Given the description of an element on the screen output the (x, y) to click on. 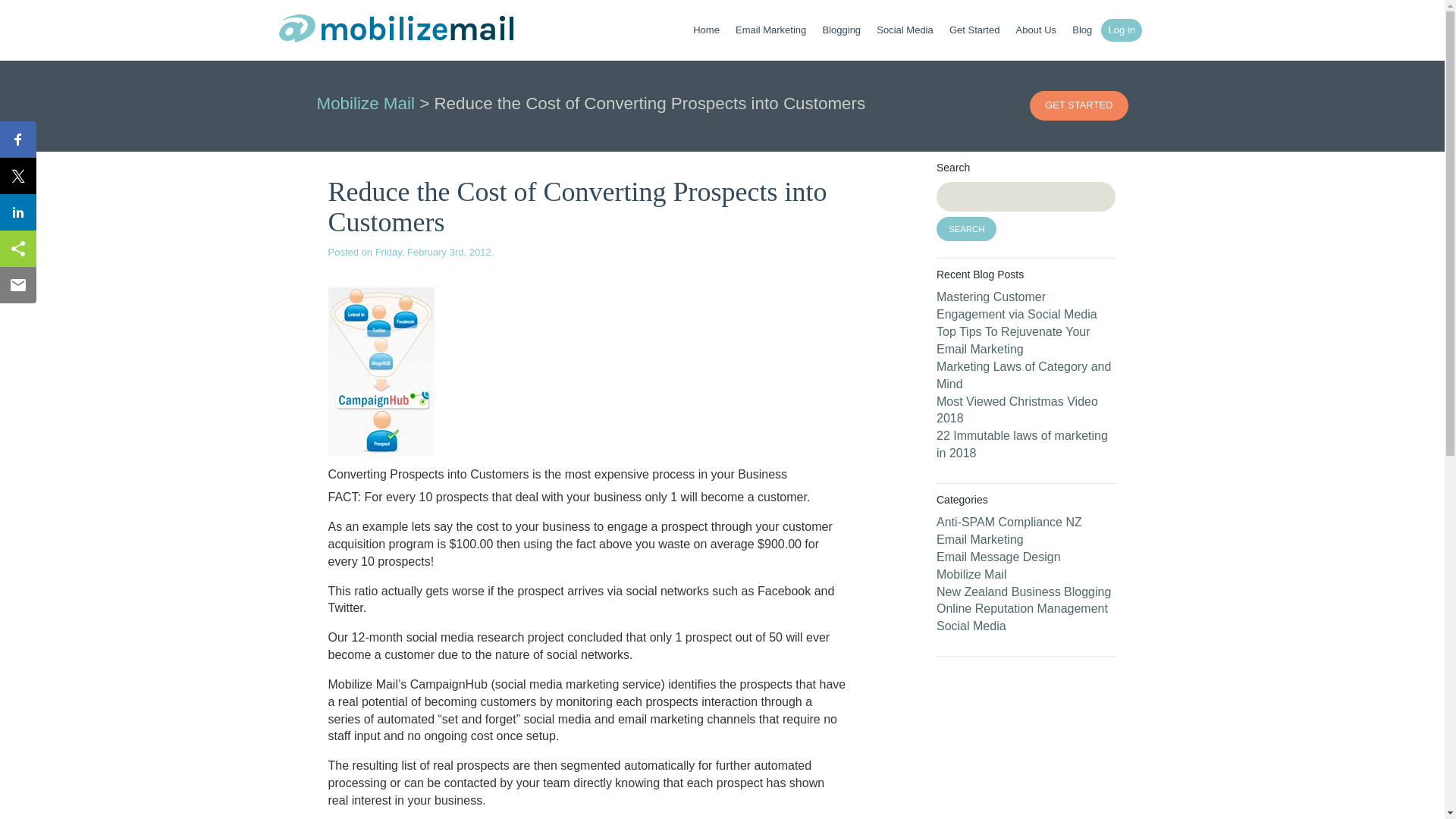
MobilizeMail (396, 32)
Get Started (974, 29)
Mobilize Mail (365, 103)
New Zealand Business Blogging (1023, 591)
Email Marketing (770, 29)
Email Message Design (998, 556)
Social Media (904, 29)
Online Reputation Management (1022, 608)
Email Marketing (979, 539)
Search (965, 228)
22 Immutable laws of marketing in 2018 (1022, 444)
Most Viewed Christmas Video 2018 (1016, 409)
About Us (1035, 29)
Blog (1082, 29)
Social Media (971, 625)
